Given the description of an element on the screen output the (x, y) to click on. 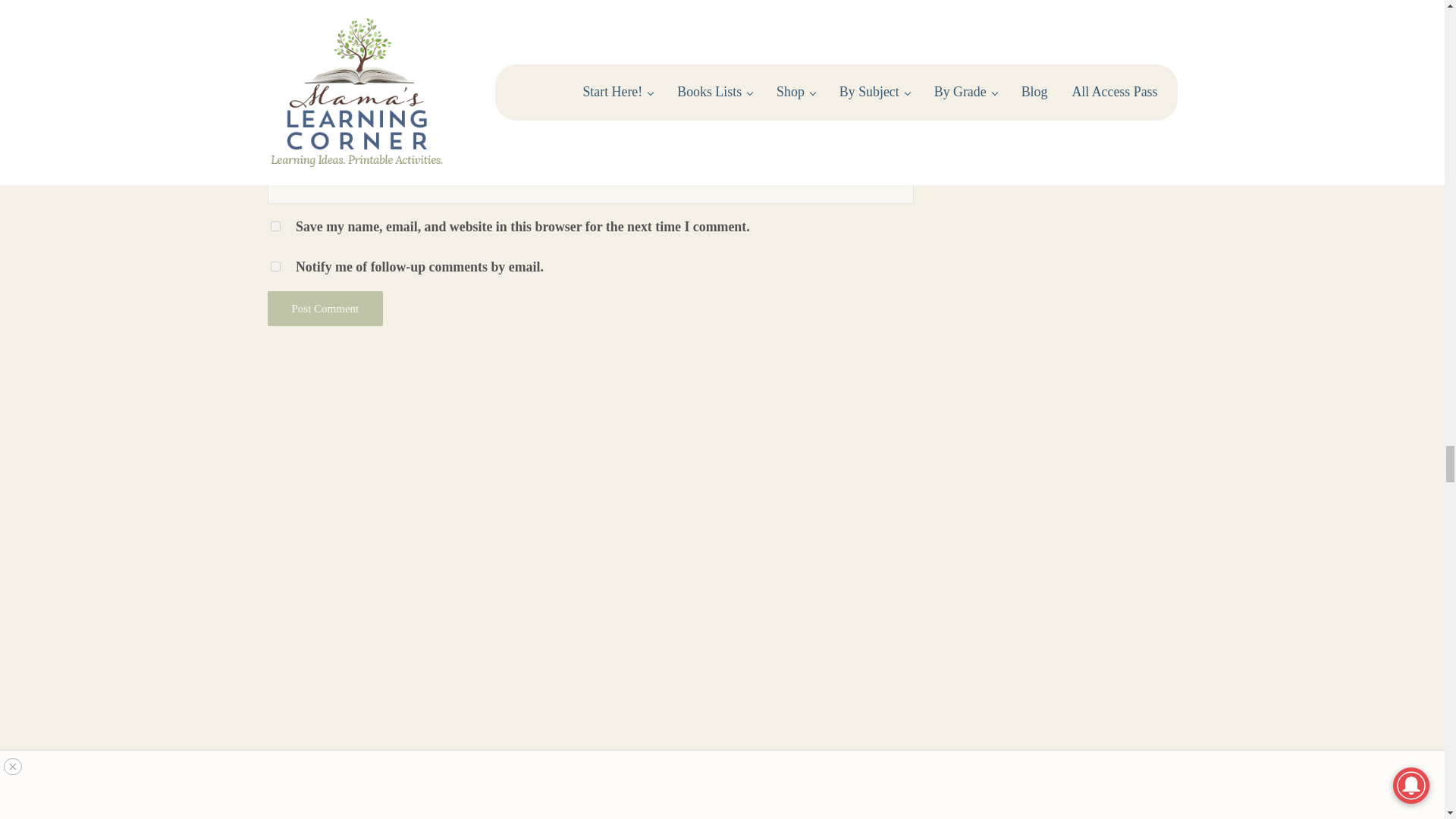
subscribe (274, 266)
Post Comment (324, 308)
yes (274, 225)
